Given the description of an element on the screen output the (x, y) to click on. 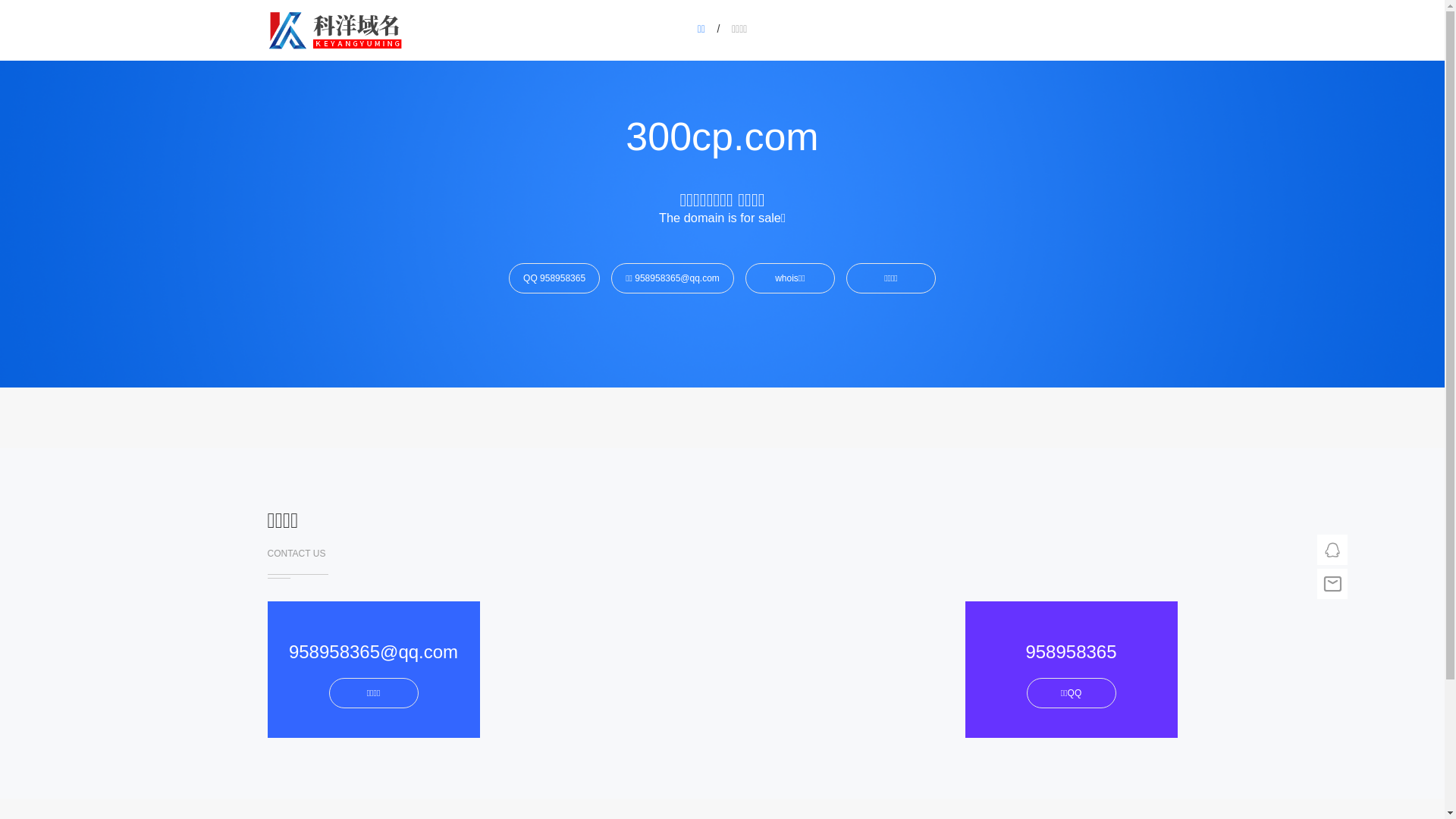
QQ 958958365 Element type: text (553, 278)
